Given the description of an element on the screen output the (x, y) to click on. 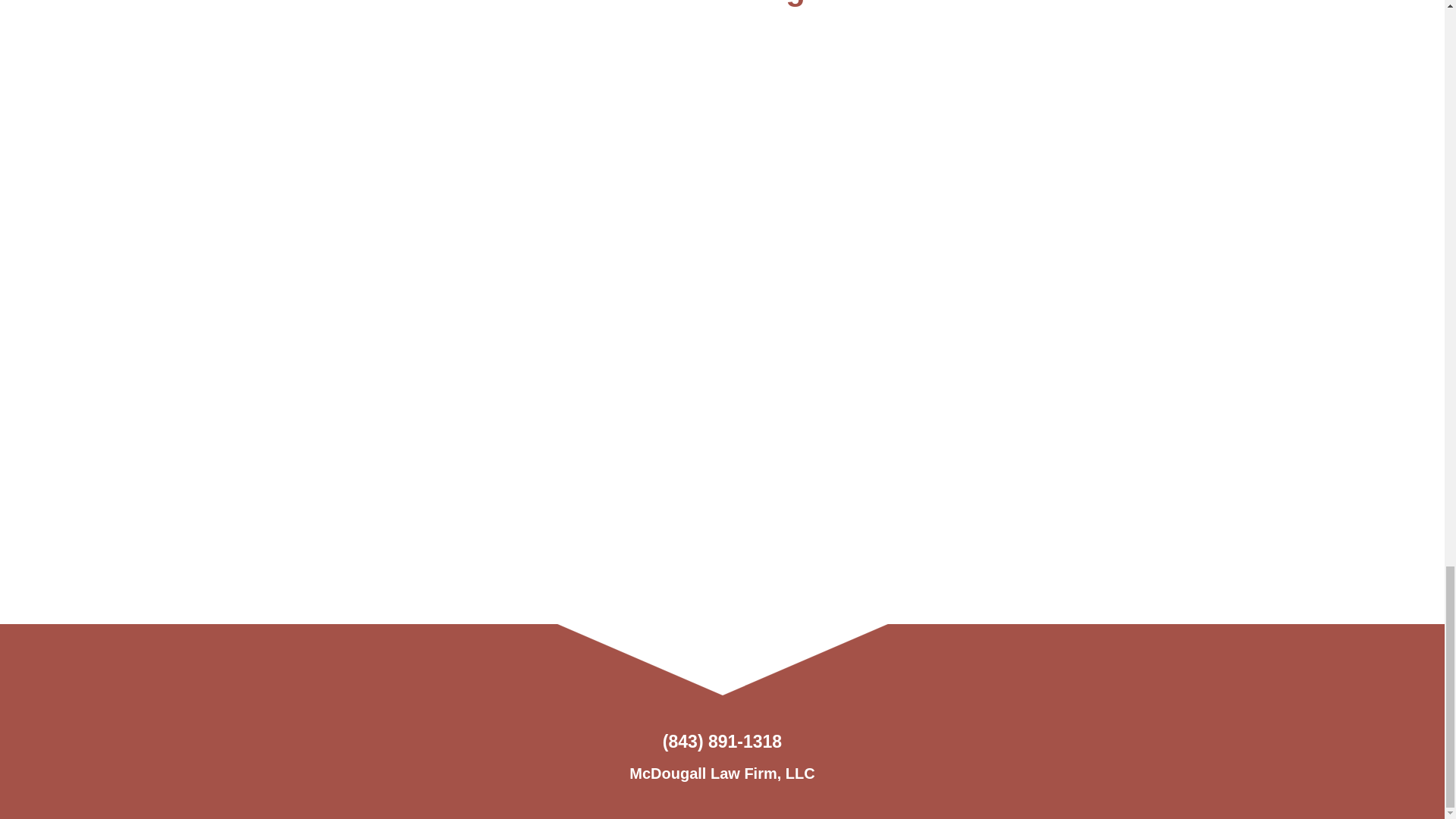
multi-million-assoc-forum (835, 308)
nat-trial-assoc-top100 (1062, 111)
superlawyers (835, 111)
american-assoc-justice (608, 111)
2019-best-law-firms (380, 111)
2015-top-100-lawyers (608, 308)
nations-top-1percent (1062, 308)
million-dollar-adv-forum (380, 308)
